Given the description of an element on the screen output the (x, y) to click on. 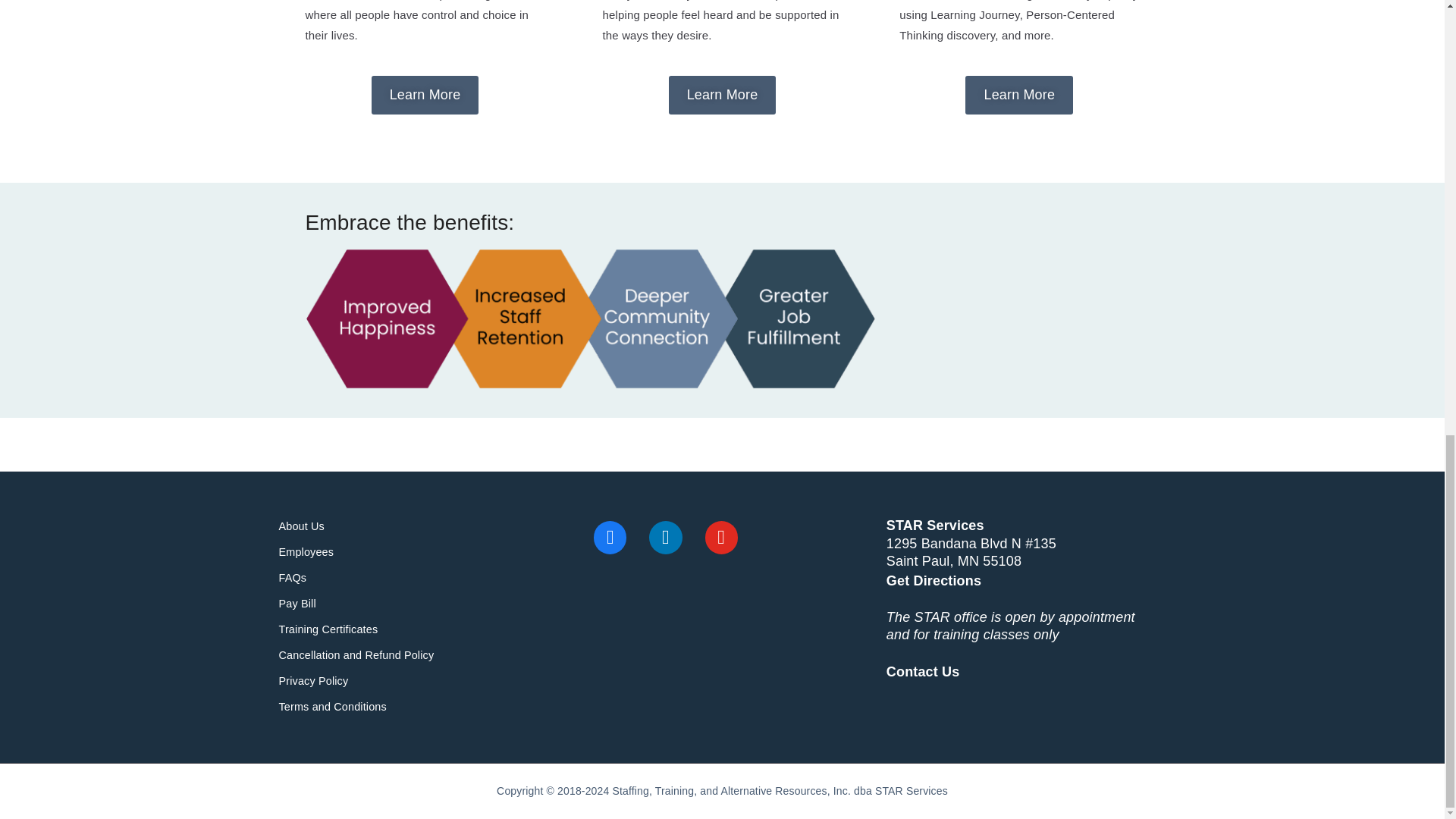
Youtube (721, 536)
Linkedin (665, 536)
Facebook (609, 536)
